Given the description of an element on the screen output the (x, y) to click on. 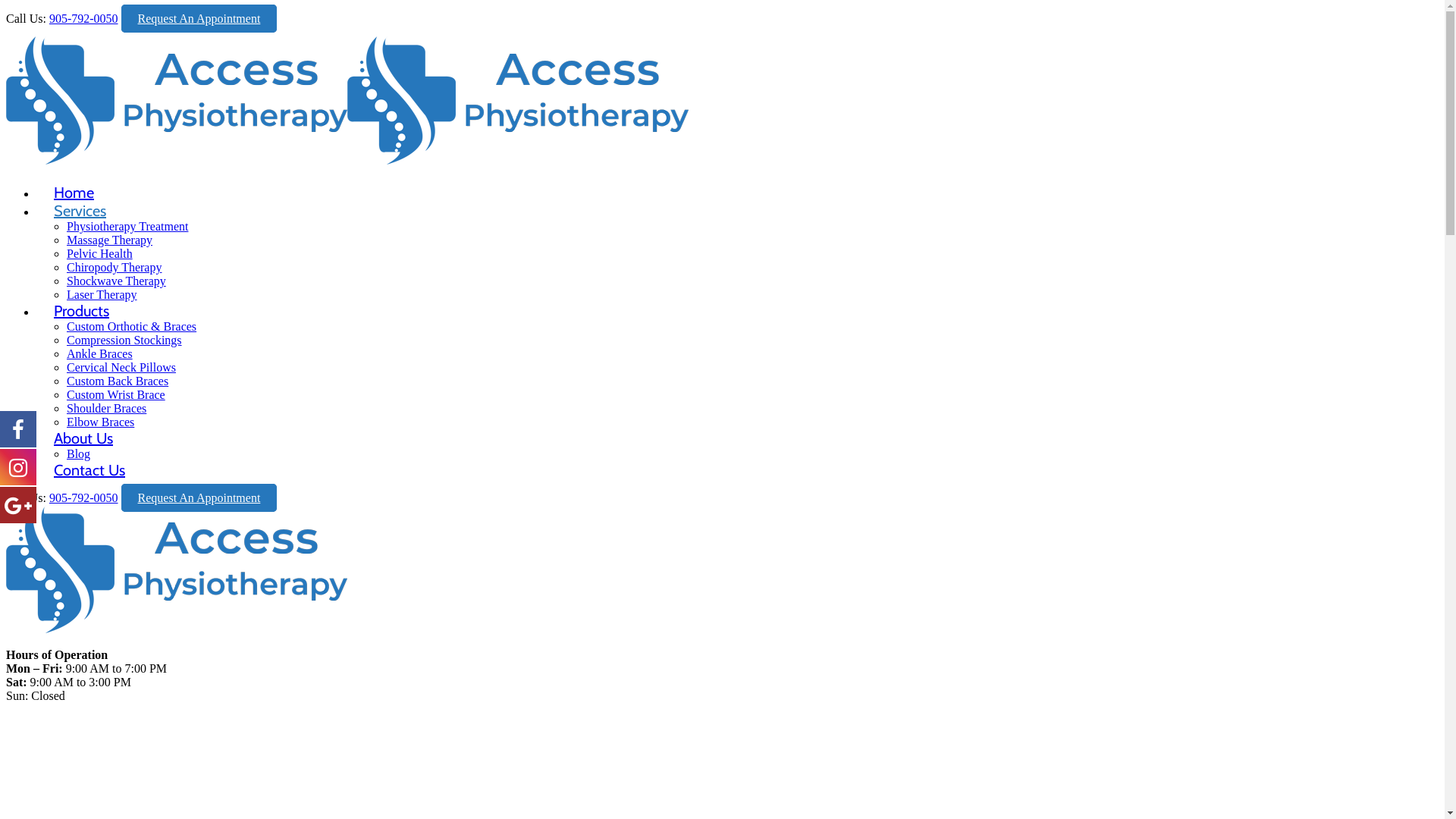
Access Physiotherapy Element type: hover (176, 628)
Compression Stockings Element type: text (124, 339)
905-792-0050 Element type: text (83, 18)
Laser Therapy Element type: text (101, 294)
Chiropody Therapy Element type: text (113, 266)
Elbow Braces Element type: text (100, 421)
About Us Element type: text (83, 425)
Massage Therapy Element type: text (109, 239)
Custom Wrist Brace Element type: text (115, 394)
Request An Appointment Element type: text (199, 18)
905-792-0050 Element type: text (83, 497)
Home Element type: text (73, 179)
Services Element type: text (79, 198)
Request An Appointment Element type: text (199, 497)
Shoulder Braces Element type: text (106, 407)
Cervical Neck Pillows Element type: text (120, 366)
Access Physiotherapy Element type: hover (347, 159)
Products Element type: text (81, 298)
Custom Back Braces Element type: text (117, 380)
Blog Element type: text (78, 453)
Ankle Braces Element type: text (99, 353)
Pelvic Health Element type: text (99, 253)
Contact Us Element type: text (89, 457)
Custom Orthotic & Braces Element type: text (131, 326)
Shockwave Therapy Element type: text (116, 280)
Physiotherapy Treatment Element type: text (127, 225)
